Given the description of an element on the screen output the (x, y) to click on. 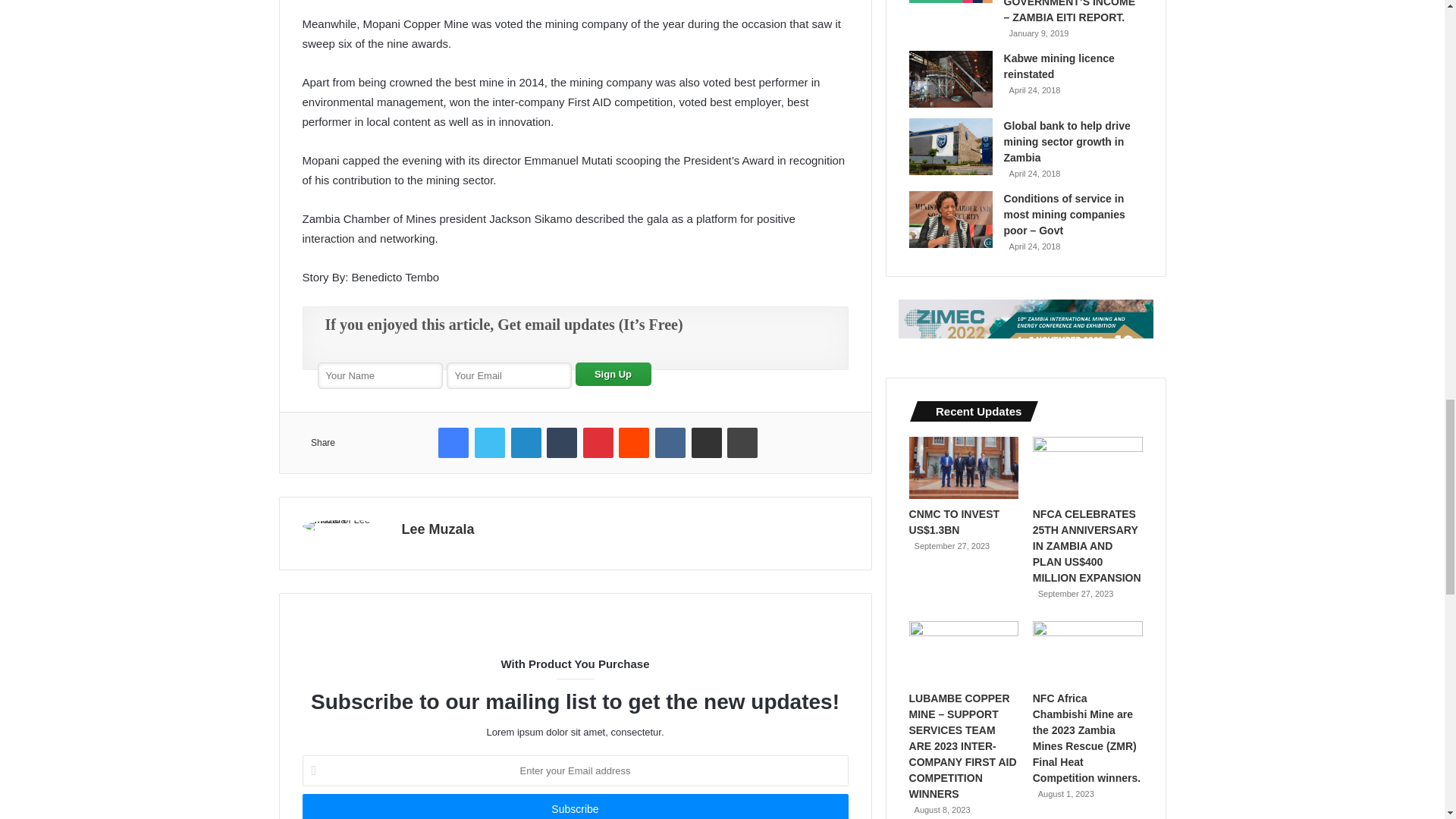
Subscribe (574, 806)
Sign Up (612, 373)
